Given the description of an element on the screen output the (x, y) to click on. 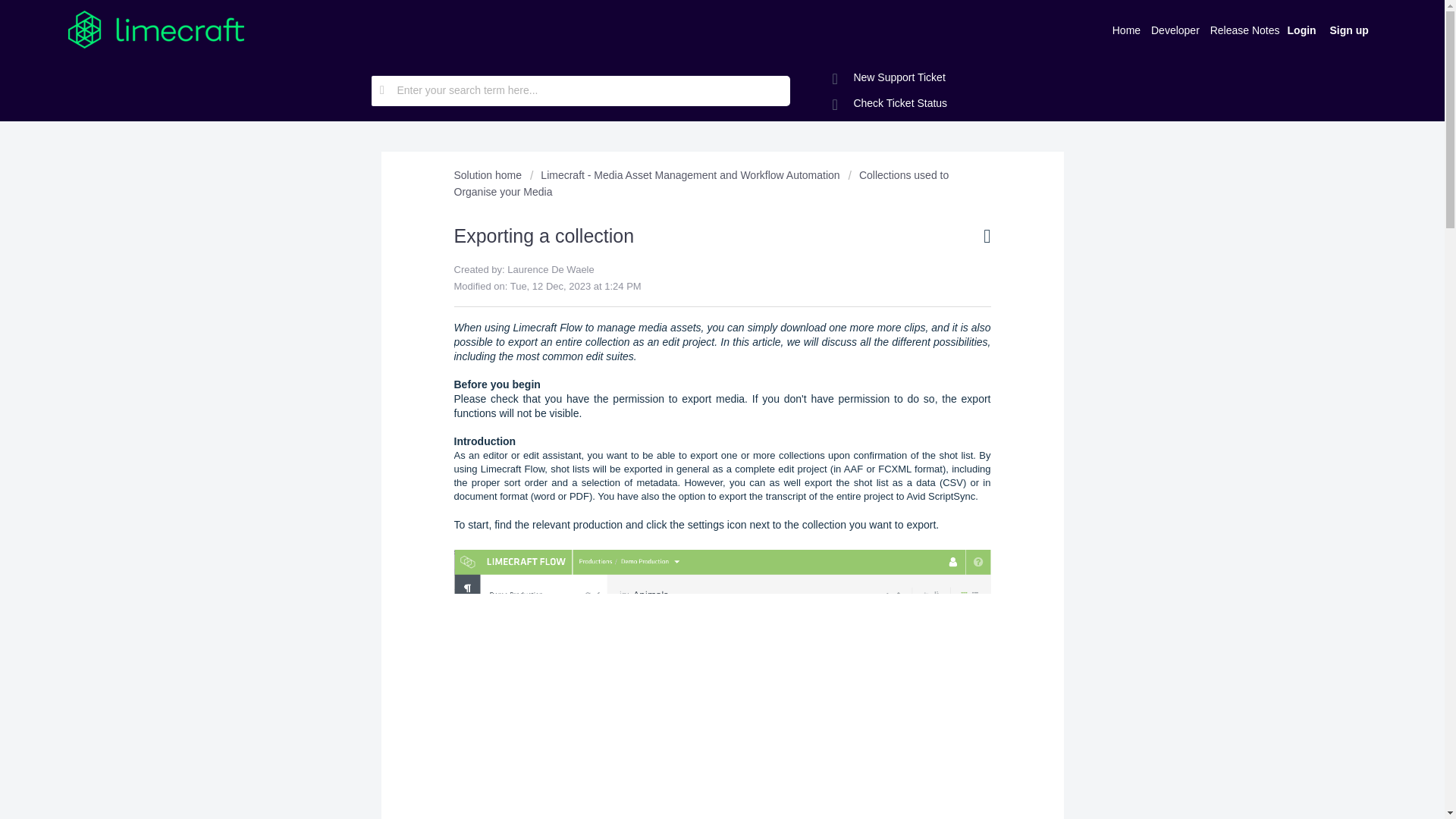
Home (1126, 29)
Login (1302, 29)
Developer (1175, 29)
Check Ticket Status (889, 103)
Check ticket status (889, 103)
New Support Ticket (888, 77)
Sign up (1347, 29)
Release Notes (1245, 29)
Limecraft - Media Asset Management and Workflow Automation (684, 174)
New support ticket (888, 77)
Solution home (488, 174)
Collections used to Organise your Media (700, 183)
